Given the description of an element on the screen output the (x, y) to click on. 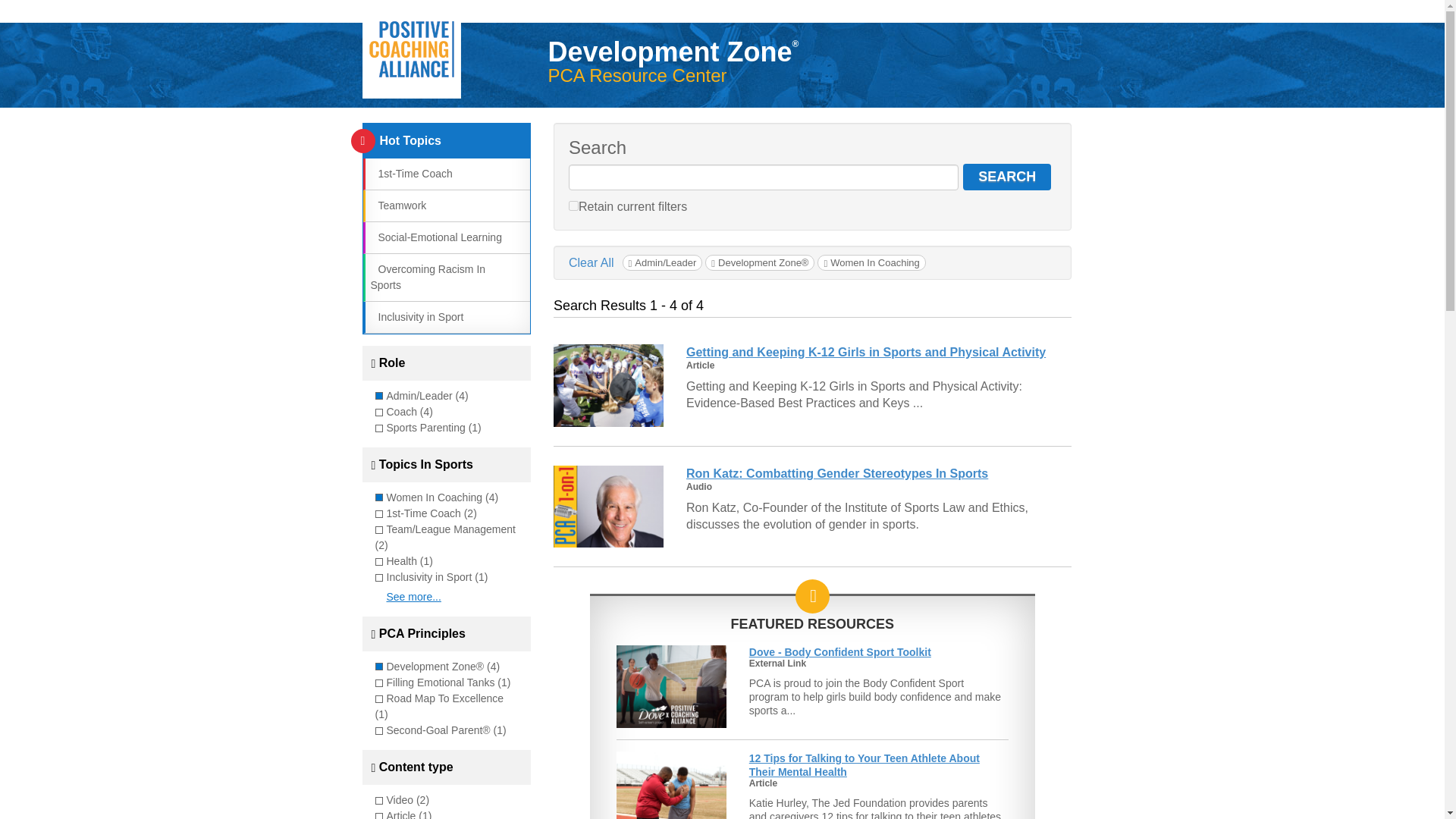
Overcoming Racism In Sports (426, 276)
1 (573, 205)
SEARCH (1006, 176)
Inclusivity in Sport (416, 316)
See more... (414, 596)
Women In Coaching (870, 262)
Teamwork (397, 205)
Social-Emotional Learning (434, 236)
Clear All (591, 262)
1st-Time Coach (410, 173)
